Given the description of an element on the screen output the (x, y) to click on. 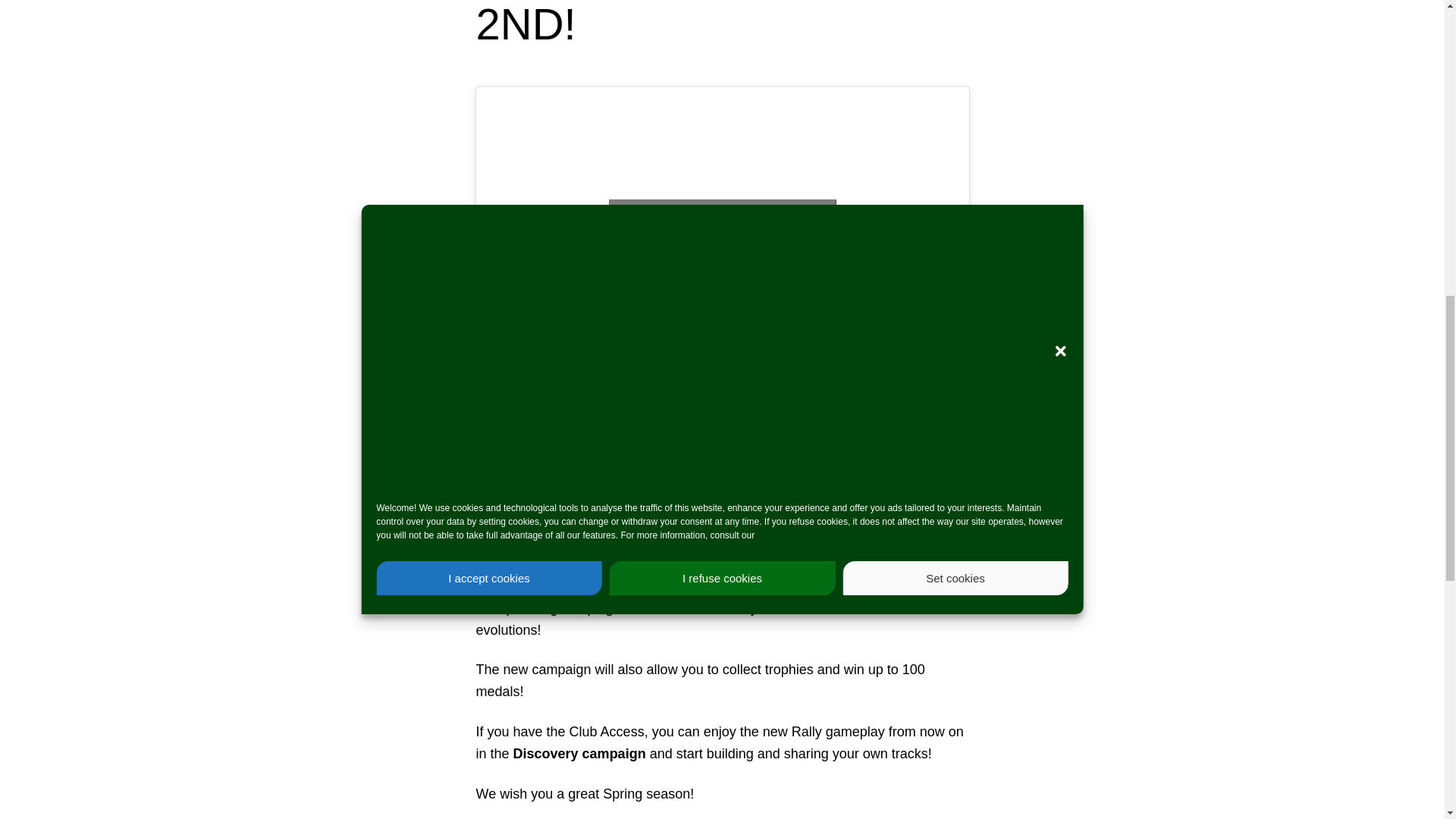
Click to accept marketing cookies and enable this content (721, 225)
